Given the description of an element on the screen output the (x, y) to click on. 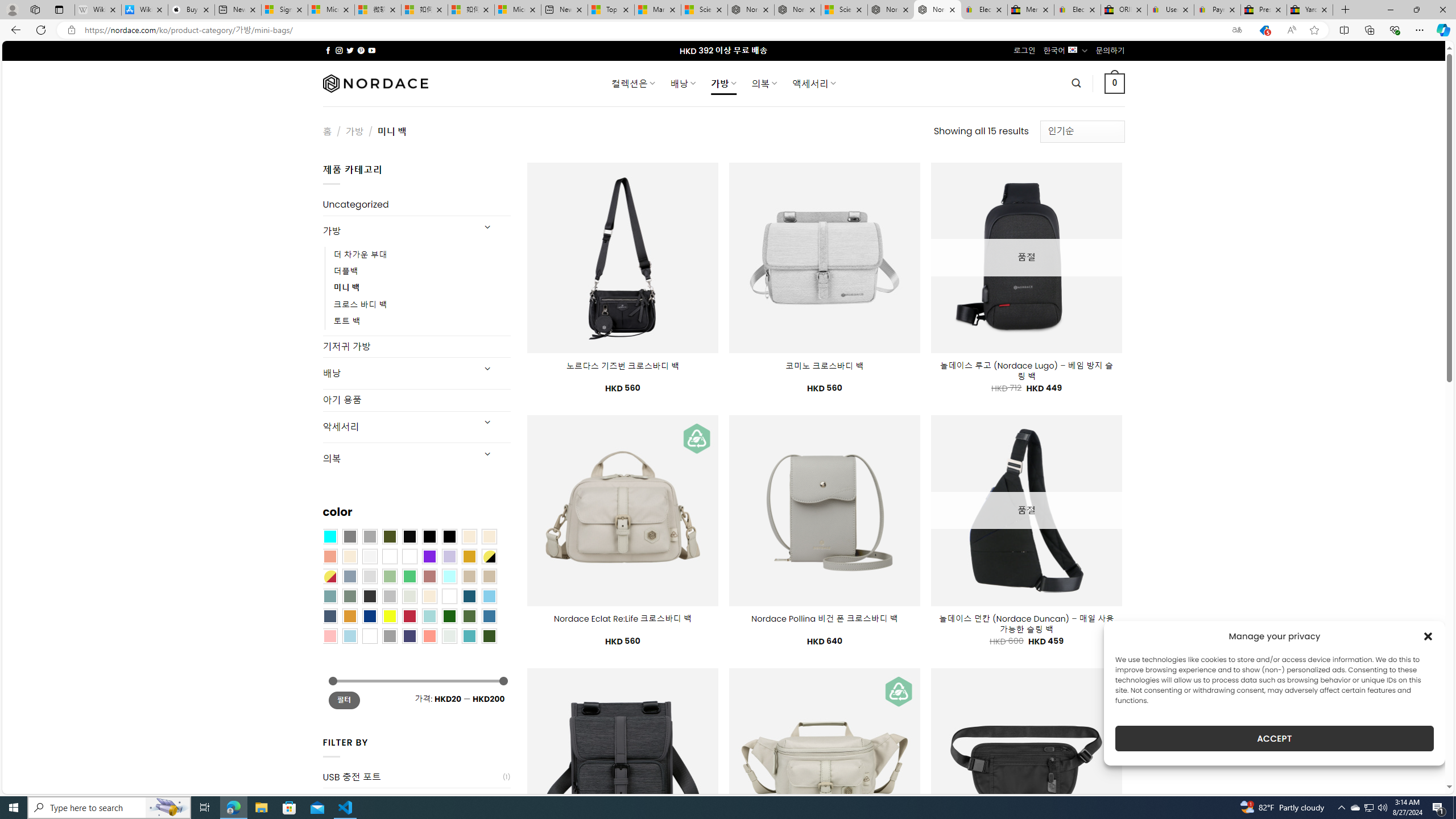
Buy iPad - Apple (191, 9)
This site has coupons! Shopping in Microsoft Edge, 5 (1263, 29)
